Given the description of an element on the screen output the (x, y) to click on. 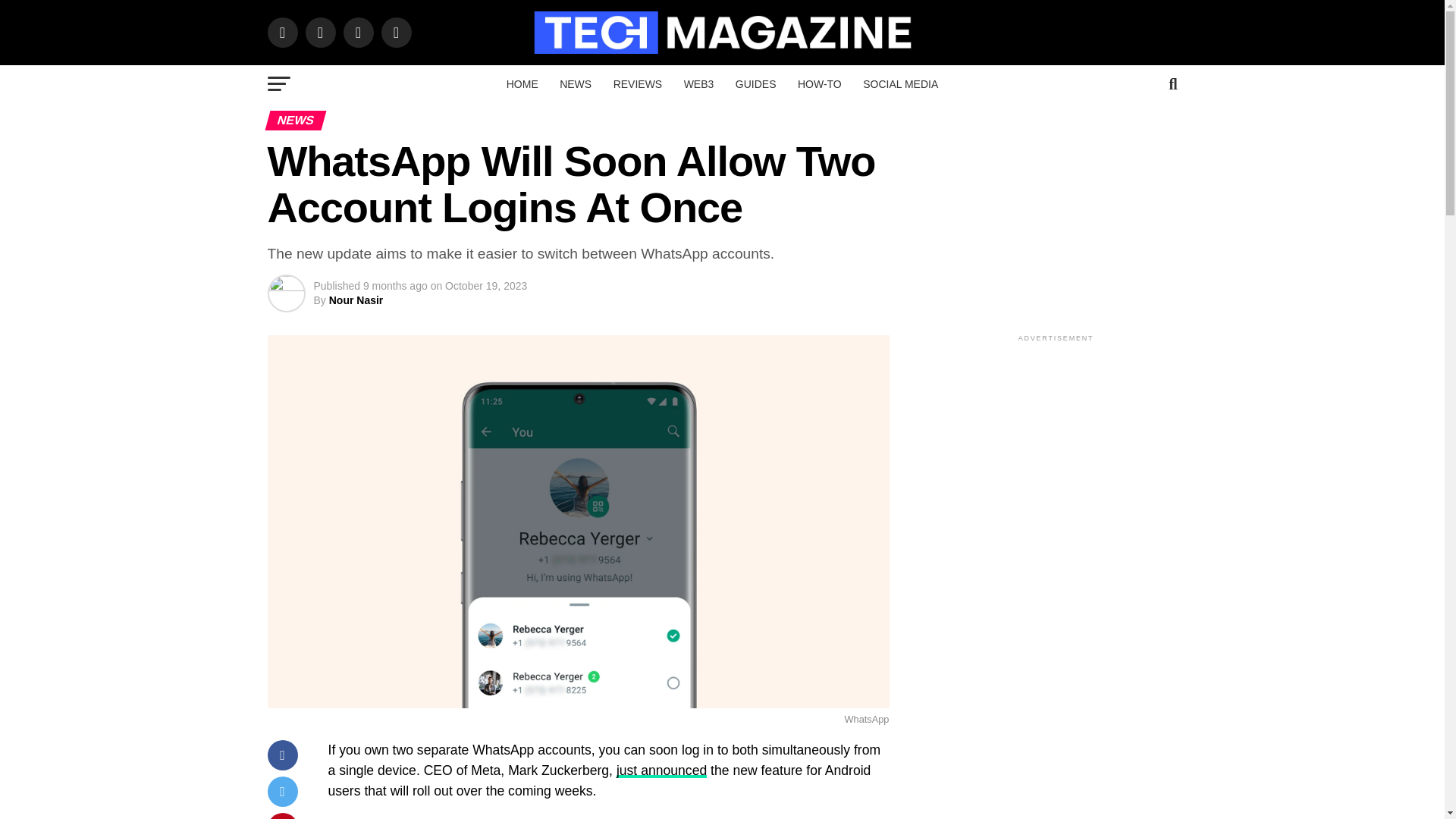
Posts by Nour Nasir (356, 300)
WEB3 (699, 84)
HOME (522, 84)
NEWS (574, 84)
REVIEWS (637, 84)
